Given the description of an element on the screen output the (x, y) to click on. 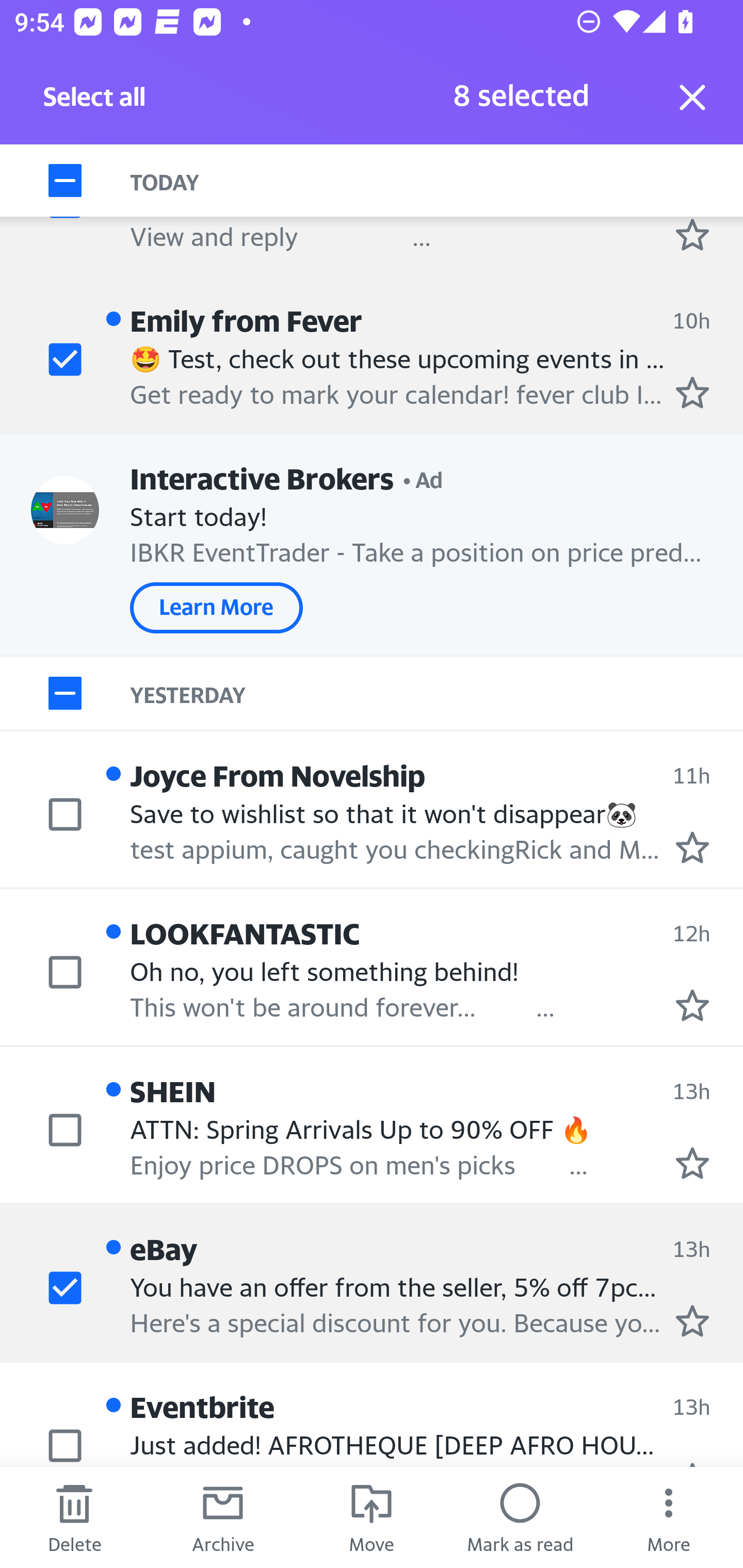
Exit selection mode (692, 97)
Select all (94, 101)
Mark as starred. (692, 234)
Mark as starred. (692, 392)
• Ad (422, 477)
YESTERDAY (436, 693)
Mark as starred. (692, 847)
Mark as starred. (692, 1005)
Mark as starred. (692, 1162)
Mark as starred. (692, 1321)
Delete (74, 1517)
Archive (222, 1517)
Move (371, 1517)
Mark as read (519, 1517)
More (668, 1517)
